Given the description of an element on the screen output the (x, y) to click on. 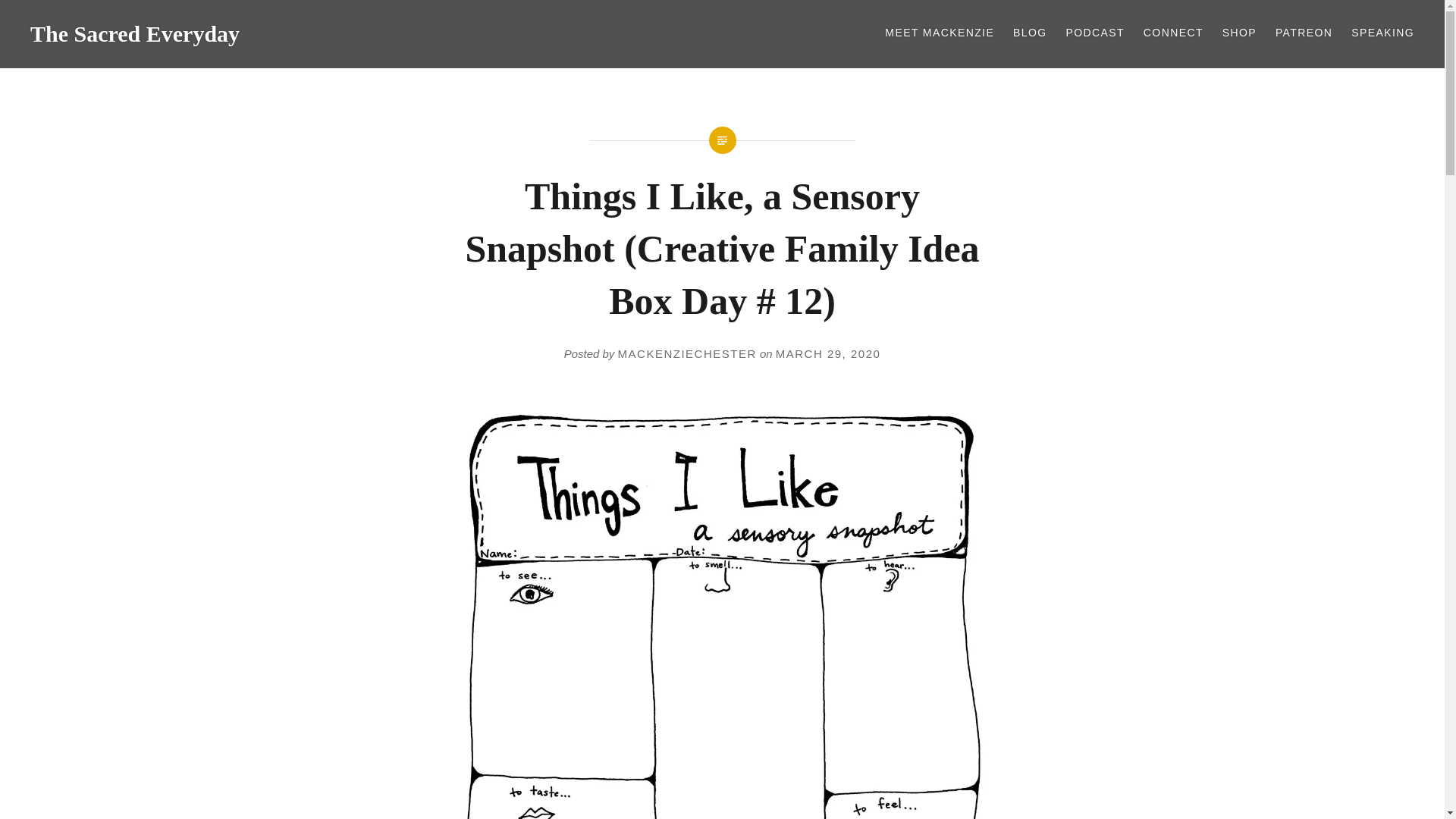
The Sacred Everyday (135, 33)
CONNECT (1173, 32)
MEET MACKENZIE (939, 32)
PODCAST (1094, 32)
MACKENZIECHESTER (687, 353)
SHOP (1239, 32)
BLOG (1029, 32)
MARCH 29, 2020 (828, 353)
PATREON (1303, 32)
SPEAKING (1382, 32)
